Given the description of an element on the screen output the (x, y) to click on. 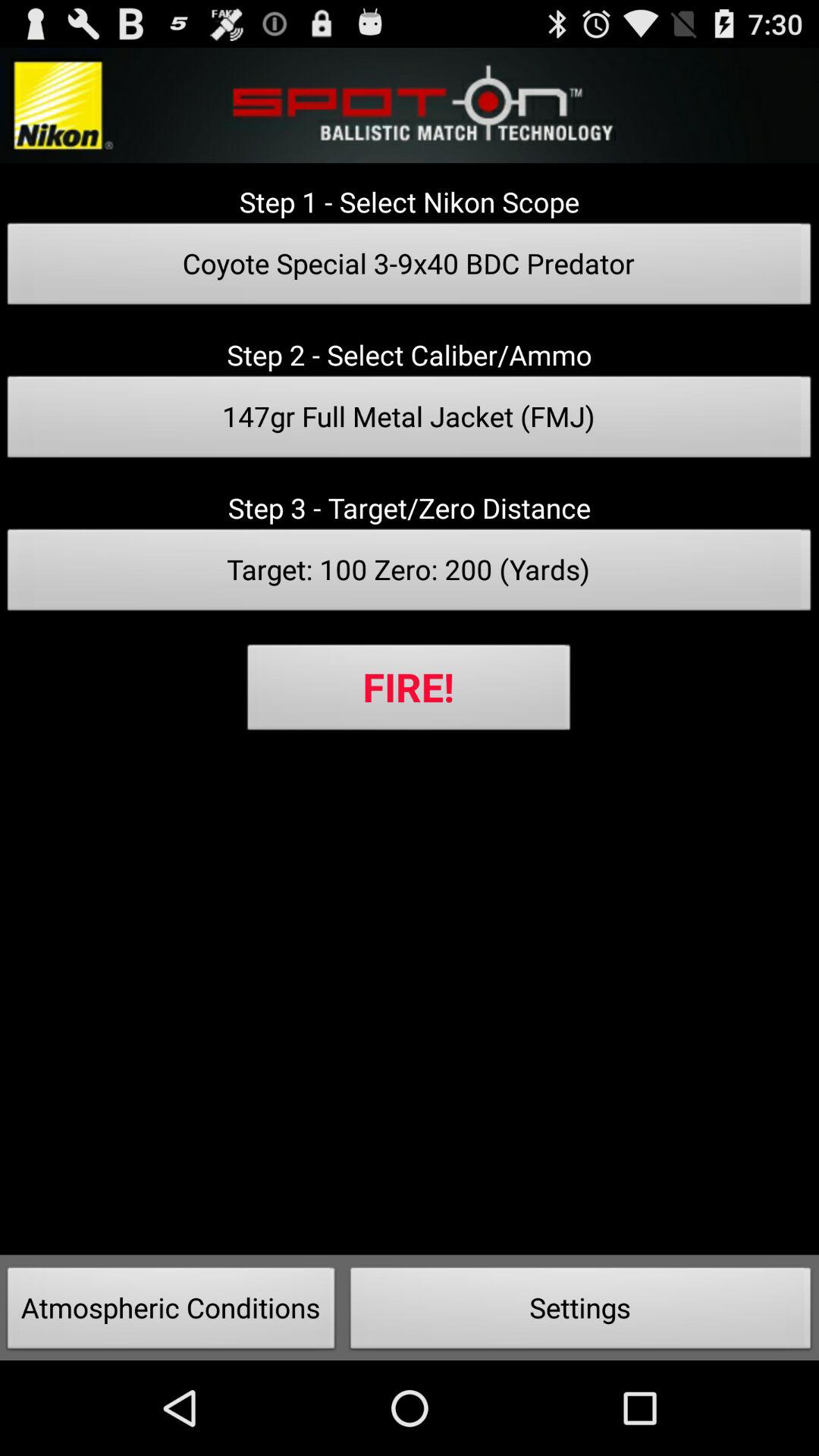
scroll until atmospheric conditions (171, 1312)
